Given the description of an element on the screen output the (x, y) to click on. 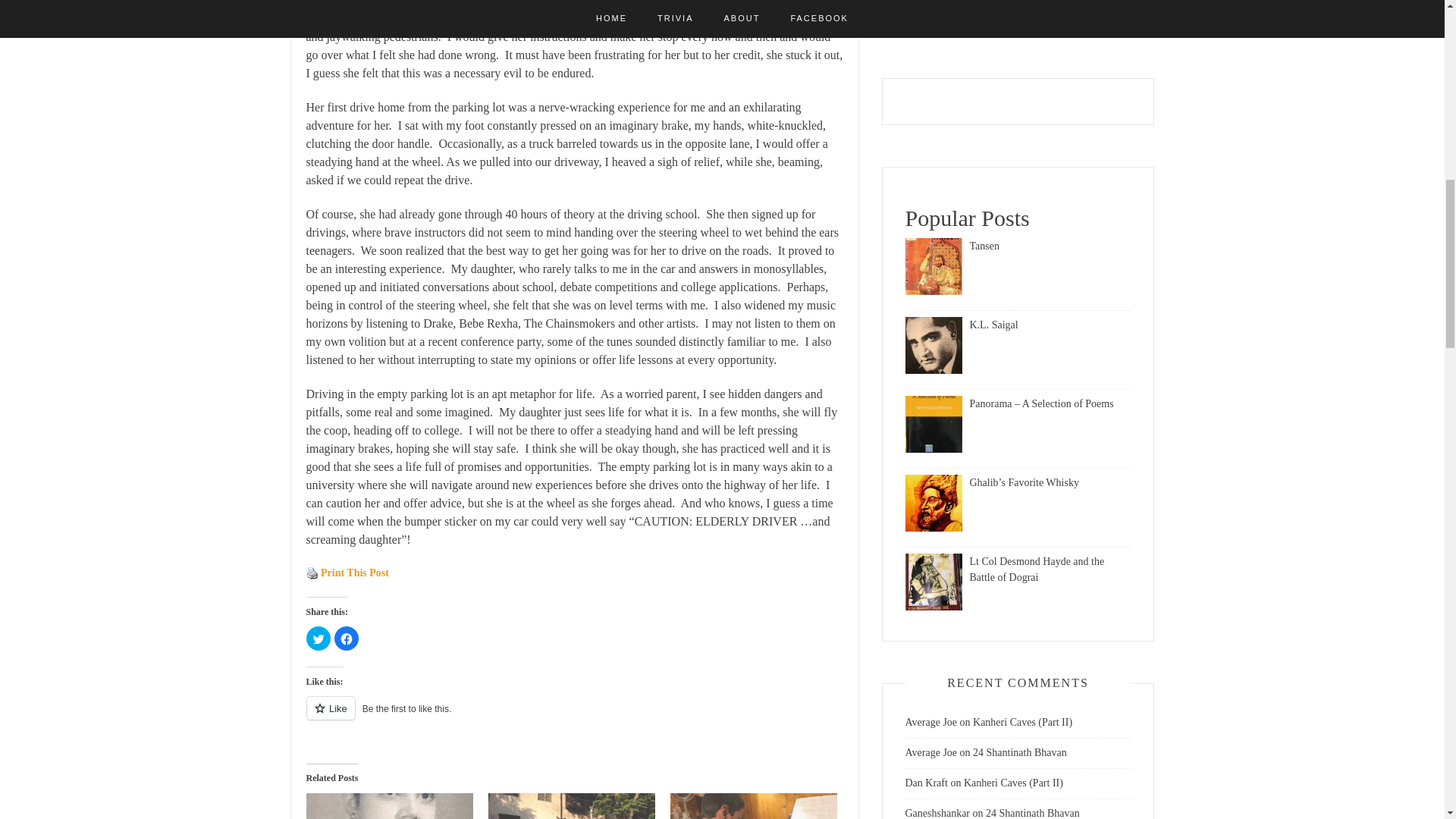
Print This Post (311, 573)
Amma - A Rememberance (389, 806)
Click to share on Facebook (345, 638)
Print This Post (354, 572)
Print This Post (354, 572)
Print This Post (311, 572)
Travel (919, 1)
Click to share on Twitter (317, 638)
Bedtime Rituals (753, 806)
24 Shantinath Bhavan (571, 806)
